Given the description of an element on the screen output the (x, y) to click on. 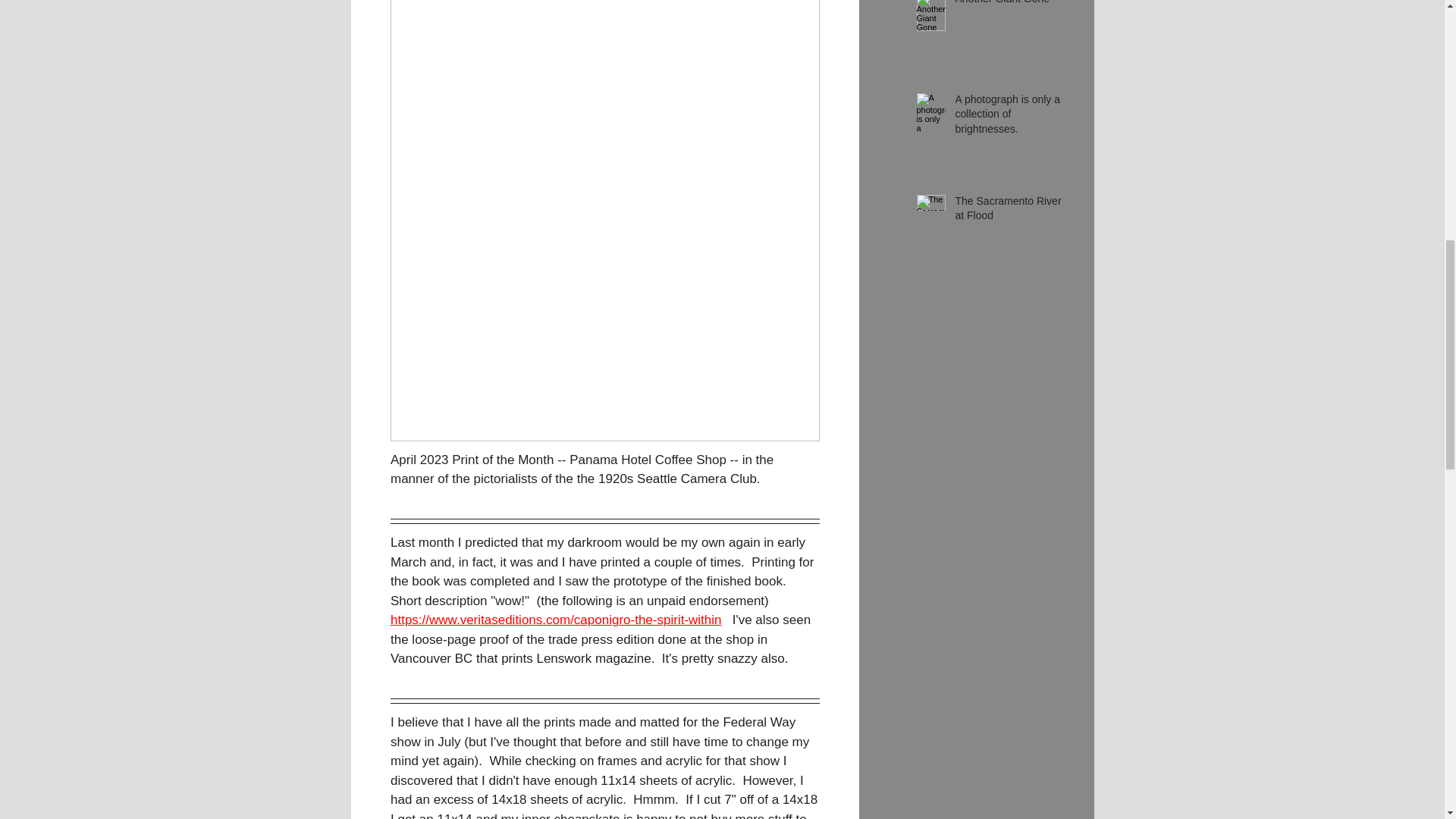
Another Giant Gone (1009, 6)
The Sacramento River at Flood (1009, 212)
A photograph is only a collection of brightnesses. (1009, 117)
